Given the description of an element on the screen output the (x, y) to click on. 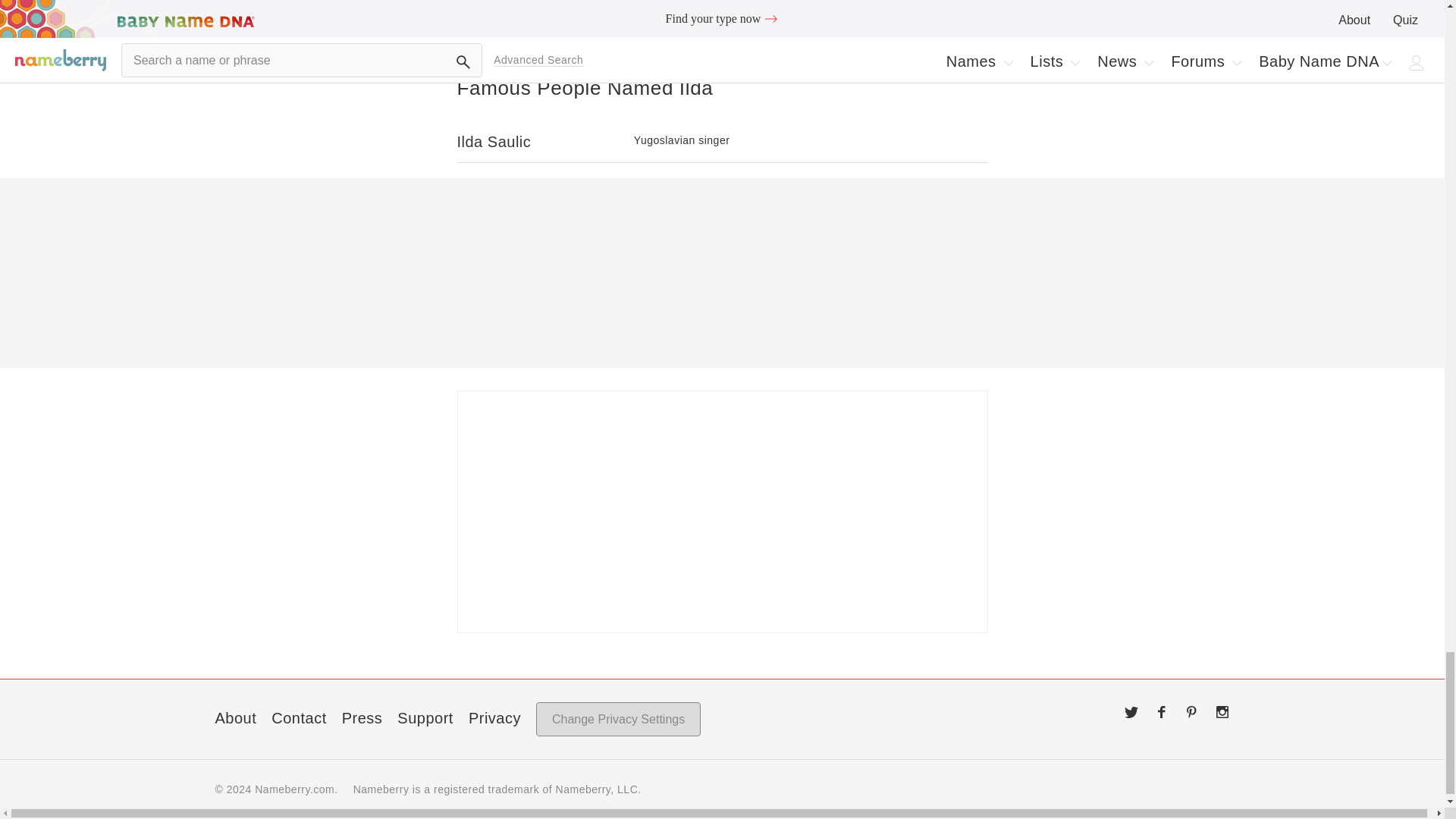
Sign up for the Nameberry Newsletter (722, 511)
